Given the description of an element on the screen output the (x, y) to click on. 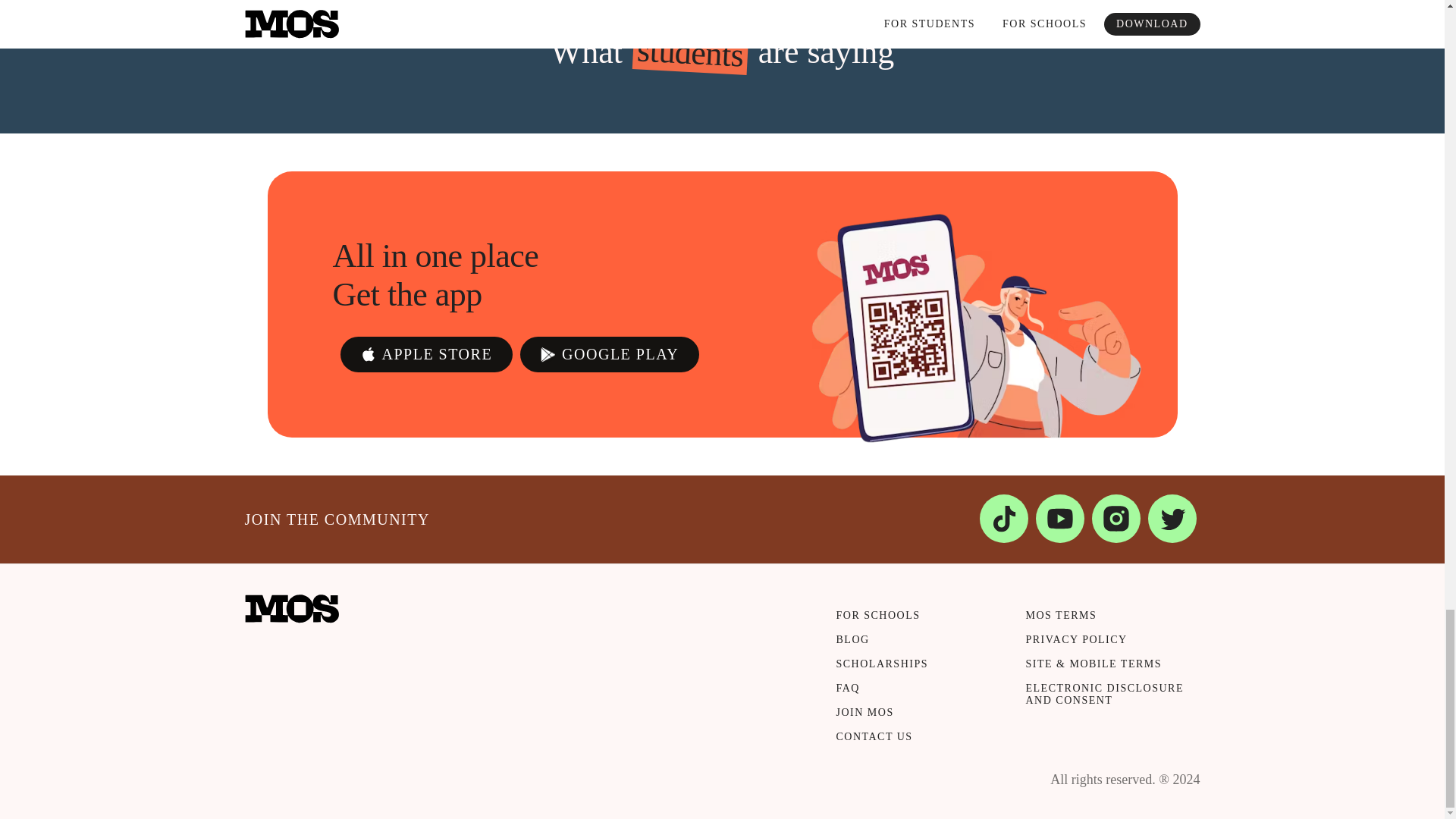
FOR SCHOOLS (914, 621)
MOS TERMS (1105, 621)
CONTACT US (914, 743)
PRIVACY POLICY (1105, 645)
JOIN MOS (914, 718)
FAQ (914, 694)
GOOGLE PLAY (608, 354)
BLOG (914, 645)
APPLE STORE (425, 354)
SCHOLARSHIPS (914, 670)
ELECTRONIC DISCLOSURE AND CONSENT (1105, 700)
